Given the description of an element on the screen output the (x, y) to click on. 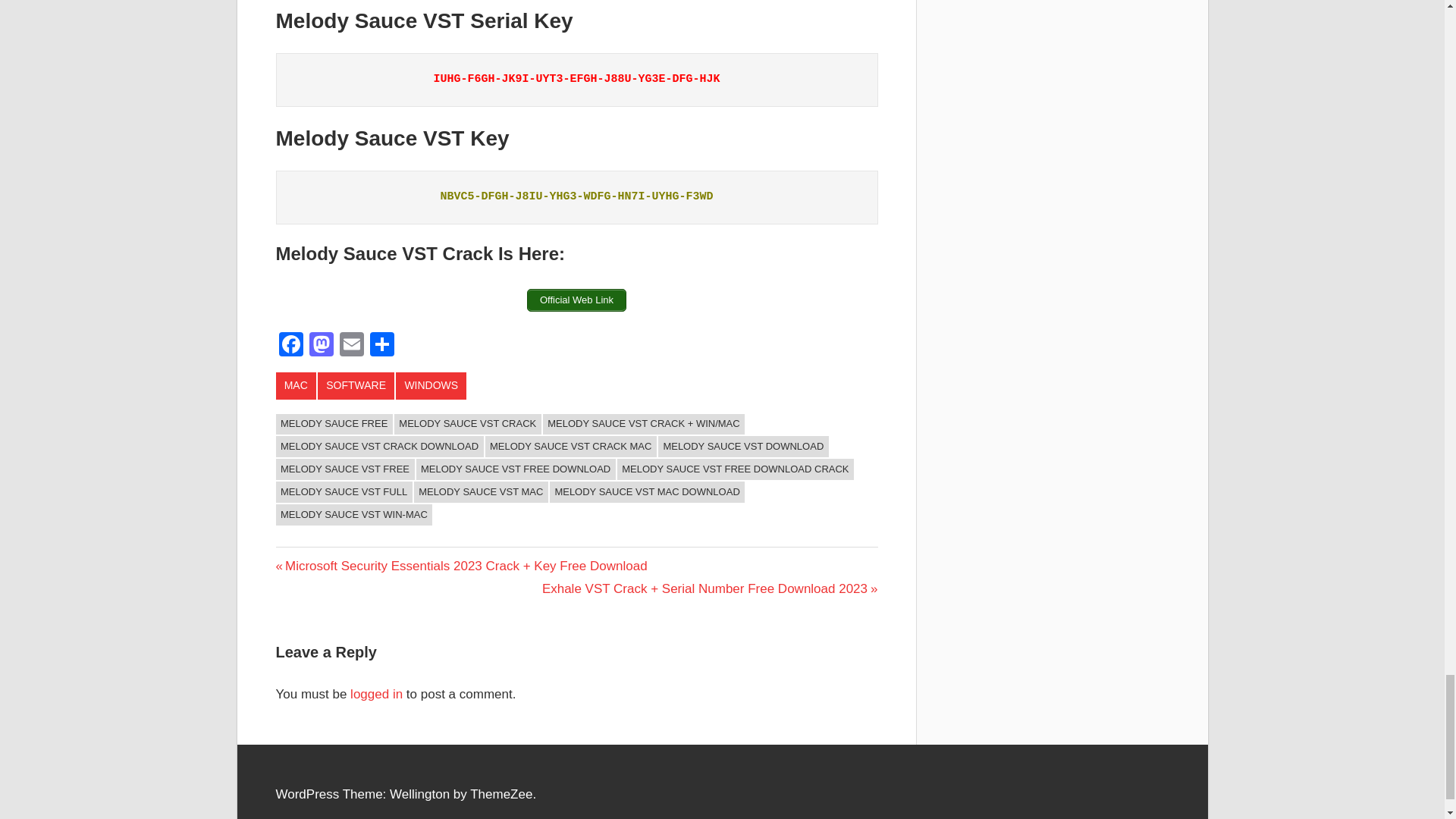
Facebook (290, 346)
Email (351, 346)
Official Web Link (576, 300)
Facebook (290, 346)
Mastodon (320, 346)
Mastodon (320, 346)
Share (381, 346)
Email (351, 346)
